Given the description of an element on the screen output the (x, y) to click on. 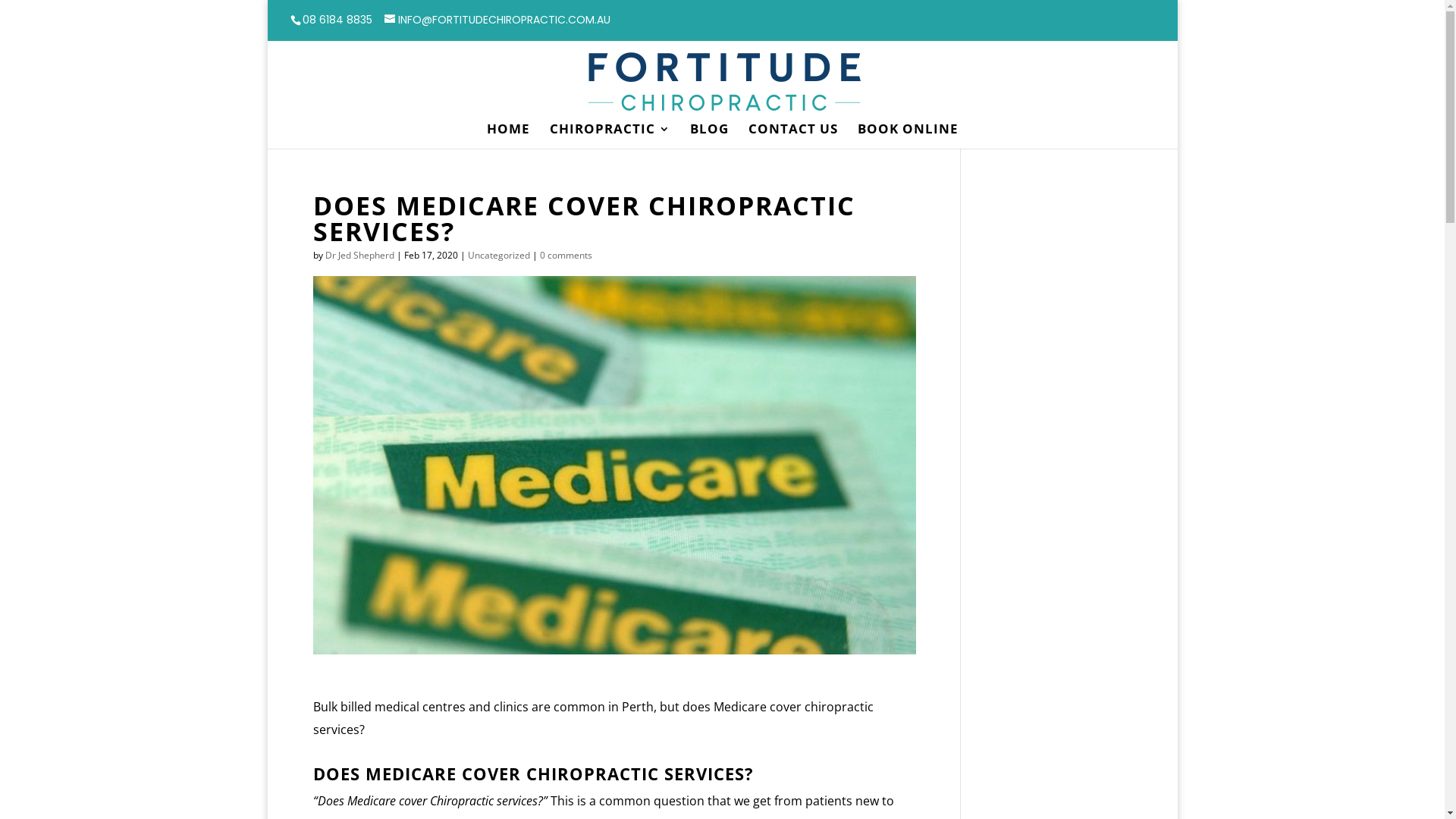
INFO@FORTITUDECHIROPRACTIC.COM.AU Element type: text (496, 19)
BOOK ONLINE Element type: text (906, 135)
BLOG Element type: text (709, 135)
Dr Jed Shepherd Element type: text (358, 254)
0 comments Element type: text (565, 254)
CHIROPRACTIC Element type: text (609, 135)
Uncategorized Element type: text (498, 254)
HOME Element type: text (508, 135)
08 6184 8835 Element type: text (336, 19)
CONTACT US Element type: text (792, 135)
